Given the description of an element on the screen output the (x, y) to click on. 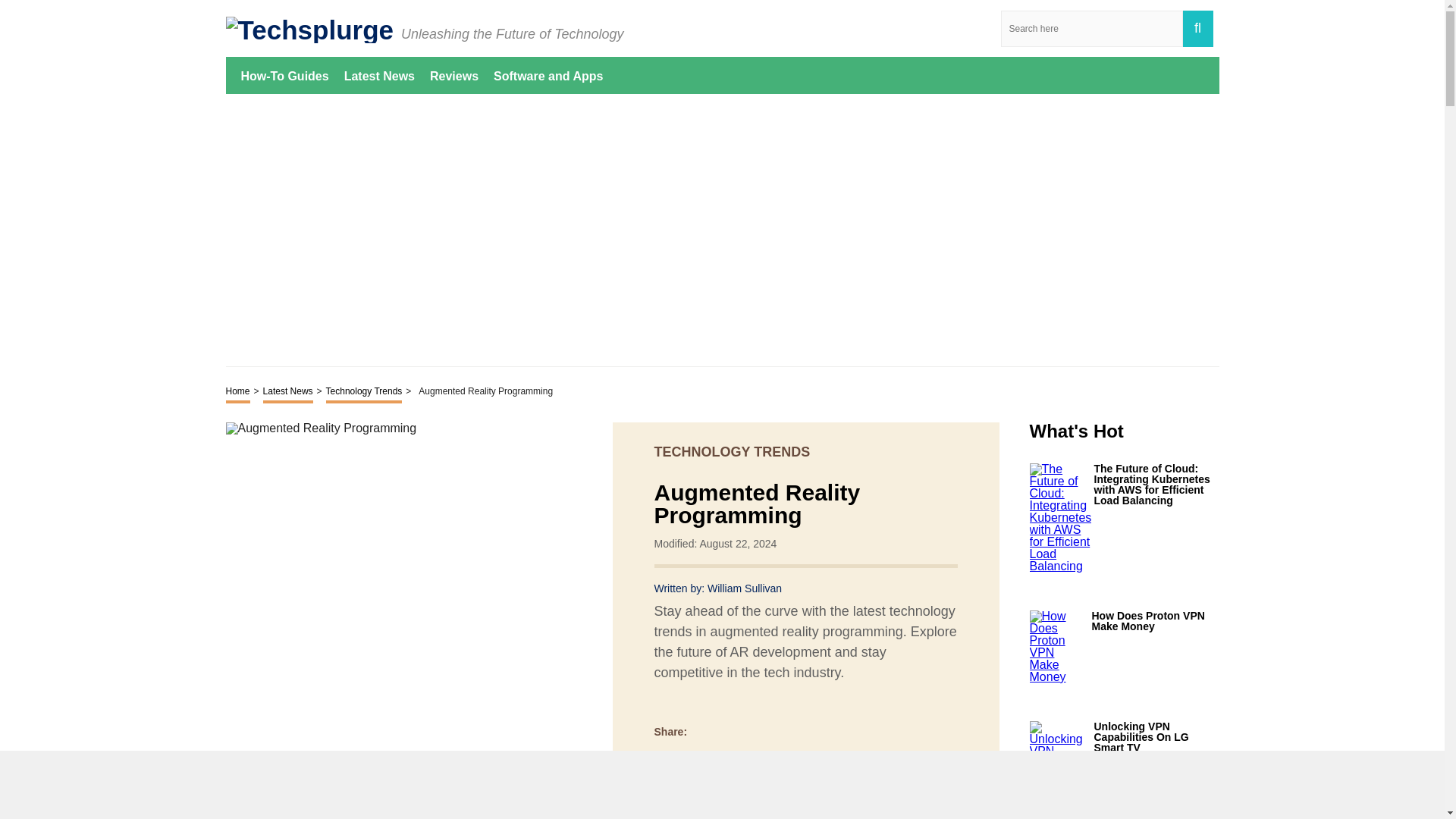
Technology Trends (364, 392)
Latest News (288, 392)
Reviews (454, 74)
Software and Apps (547, 74)
Latest News (378, 74)
How-To Guides (285, 74)
William Sullivan (744, 588)
Home (237, 392)
